Given the description of an element on the screen output the (x, y) to click on. 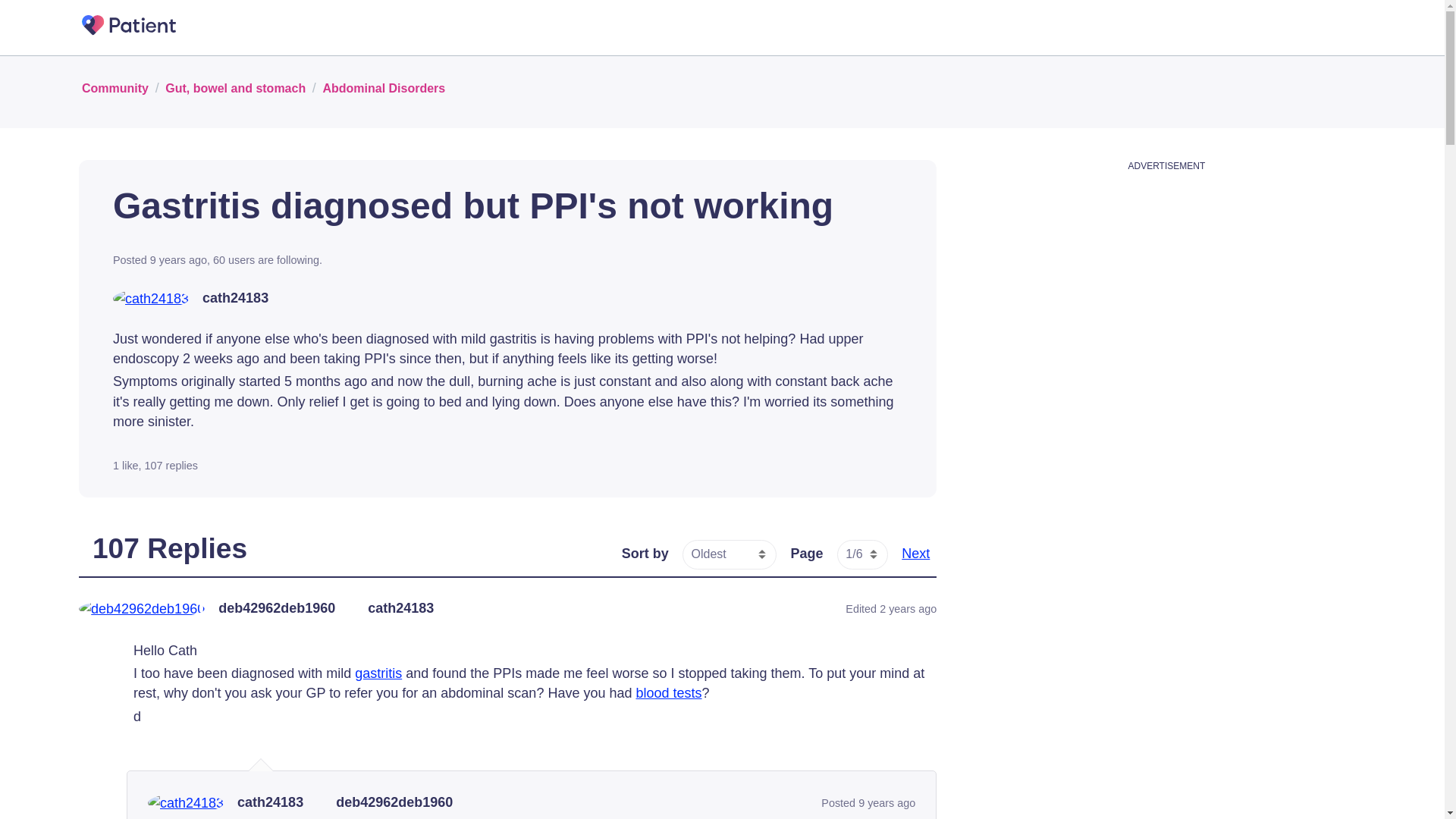
blood tests (667, 693)
gastritis (378, 672)
Community (114, 87)
Next (915, 553)
deb42962deb1960 (276, 608)
cath24183 (234, 298)
deb42962deb1960 (394, 802)
cath24183 (269, 802)
View cath24183's profile (234, 298)
Gut, bowel and stomach (235, 87)
View deb42962deb1960's profile (276, 608)
View cath24183's profile (269, 802)
cath24183 (400, 608)
Abdominal Disorders (383, 87)
